Given the description of an element on the screen output the (x, y) to click on. 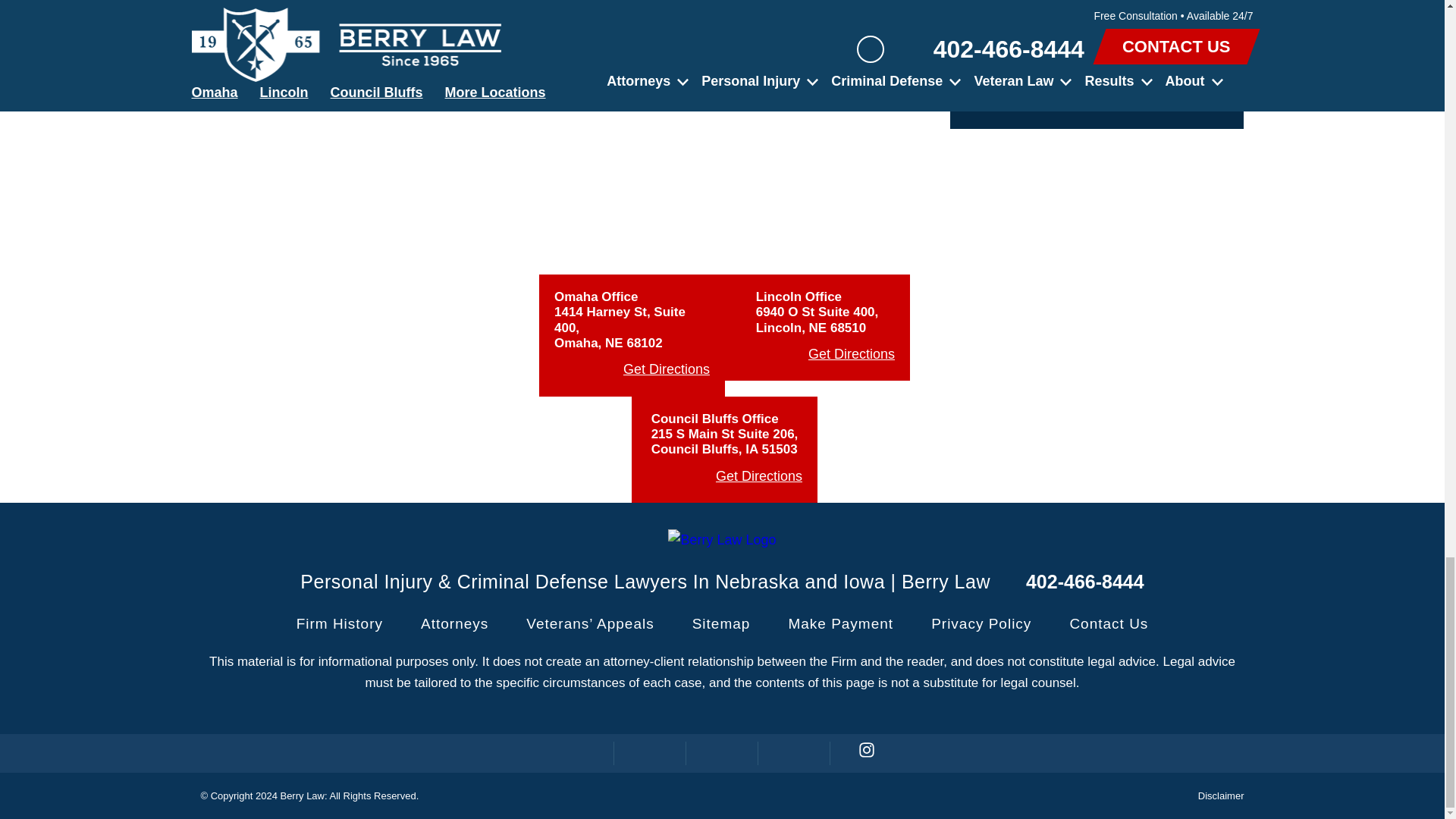
Lincoln Possession with Intent to Distribute Lawyer (809, 11)
Facebook (577, 753)
Berry Law (722, 540)
Twitter (649, 753)
Lincoln Possession with Intent to Distribute Lawyer (318, 11)
Instagram (865, 753)
Lincoln Possession with Intent to Distribute Lawyer (563, 11)
Youtube (793, 753)
Linkedin (721, 753)
